Given the description of an element on the screen output the (x, y) to click on. 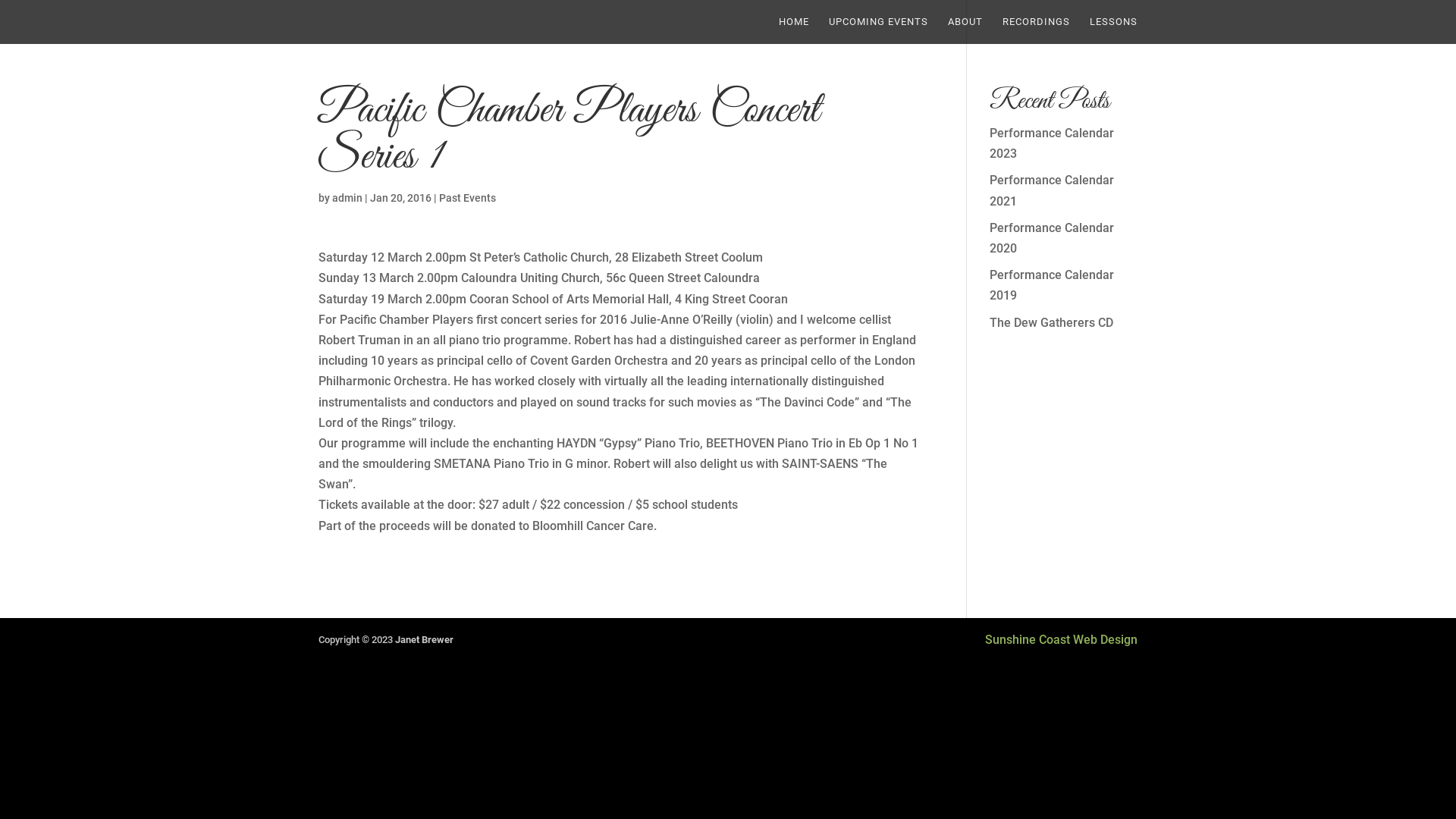
UPCOMING EVENTS Element type: text (878, 29)
HOME Element type: text (793, 29)
Past Events Element type: text (467, 197)
Performance Calendar 2021 Element type: text (1051, 189)
LESSONS Element type: text (1113, 29)
ABOUT Element type: text (964, 29)
Sunshine Coast Web Design Element type: text (1061, 639)
The Dew Gatherers CD Element type: text (1051, 322)
Performance Calendar 2023 Element type: text (1051, 142)
Performance Calendar 2020 Element type: text (1051, 237)
Janet Brewer Element type: text (424, 639)
Performance Calendar 2019 Element type: text (1051, 284)
admin Element type: text (347, 197)
RECORDINGS Element type: text (1036, 29)
